Given the description of an element on the screen output the (x, y) to click on. 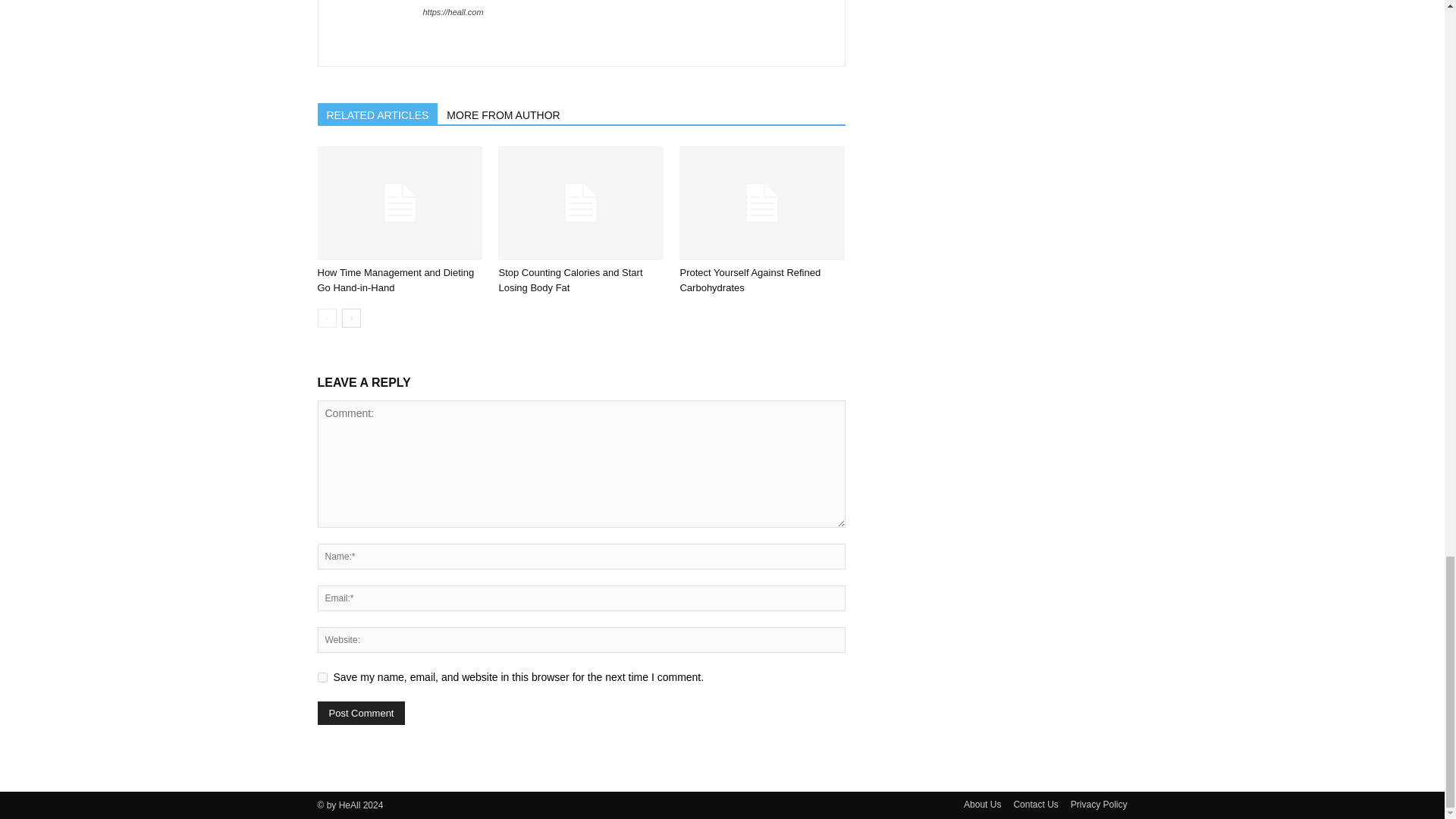
yes (321, 677)
Post Comment (360, 712)
